Given the description of an element on the screen output the (x, y) to click on. 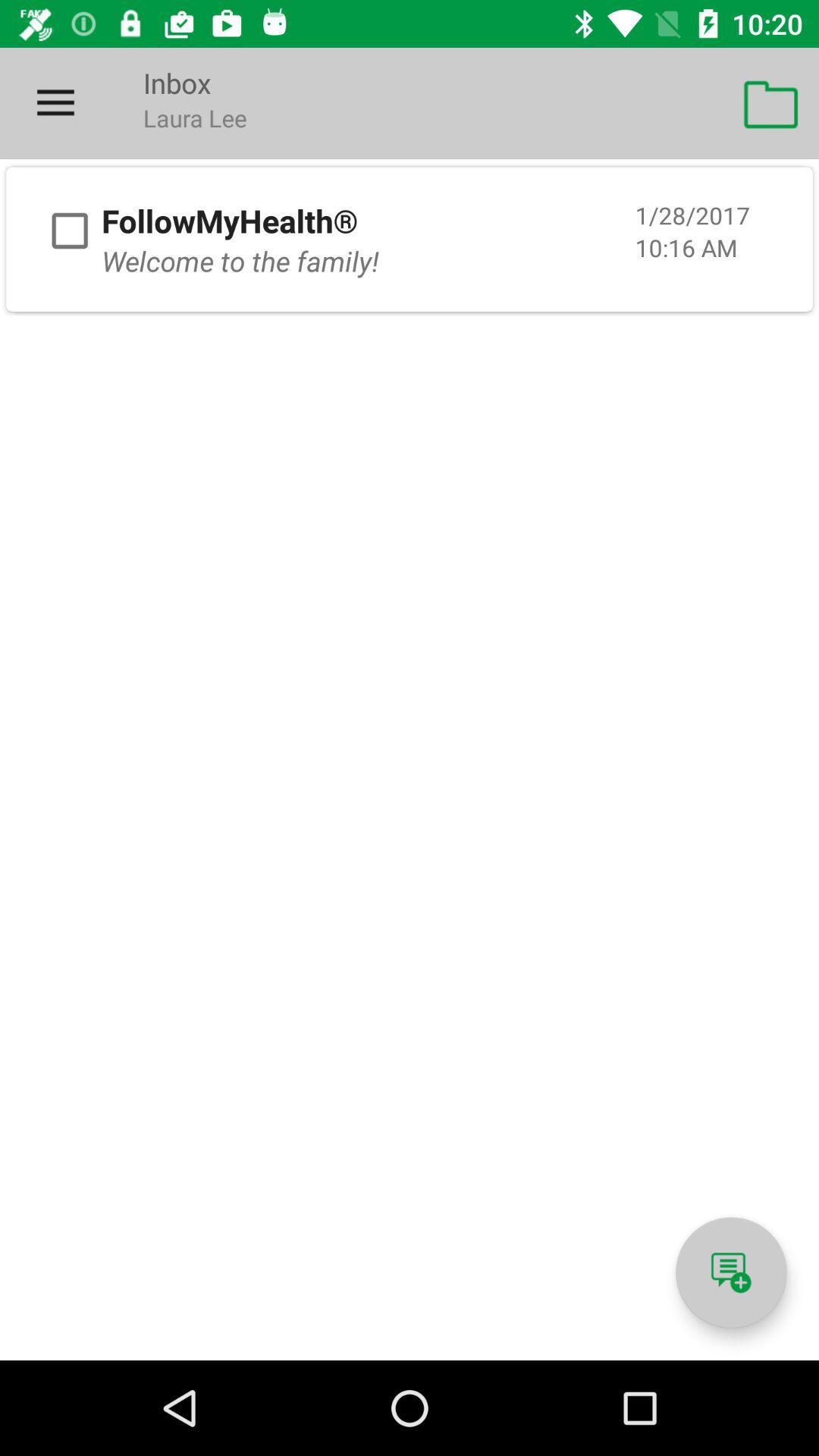
select icon at the bottom right corner (731, 1272)
